Given the description of an element on the screen output the (x, y) to click on. 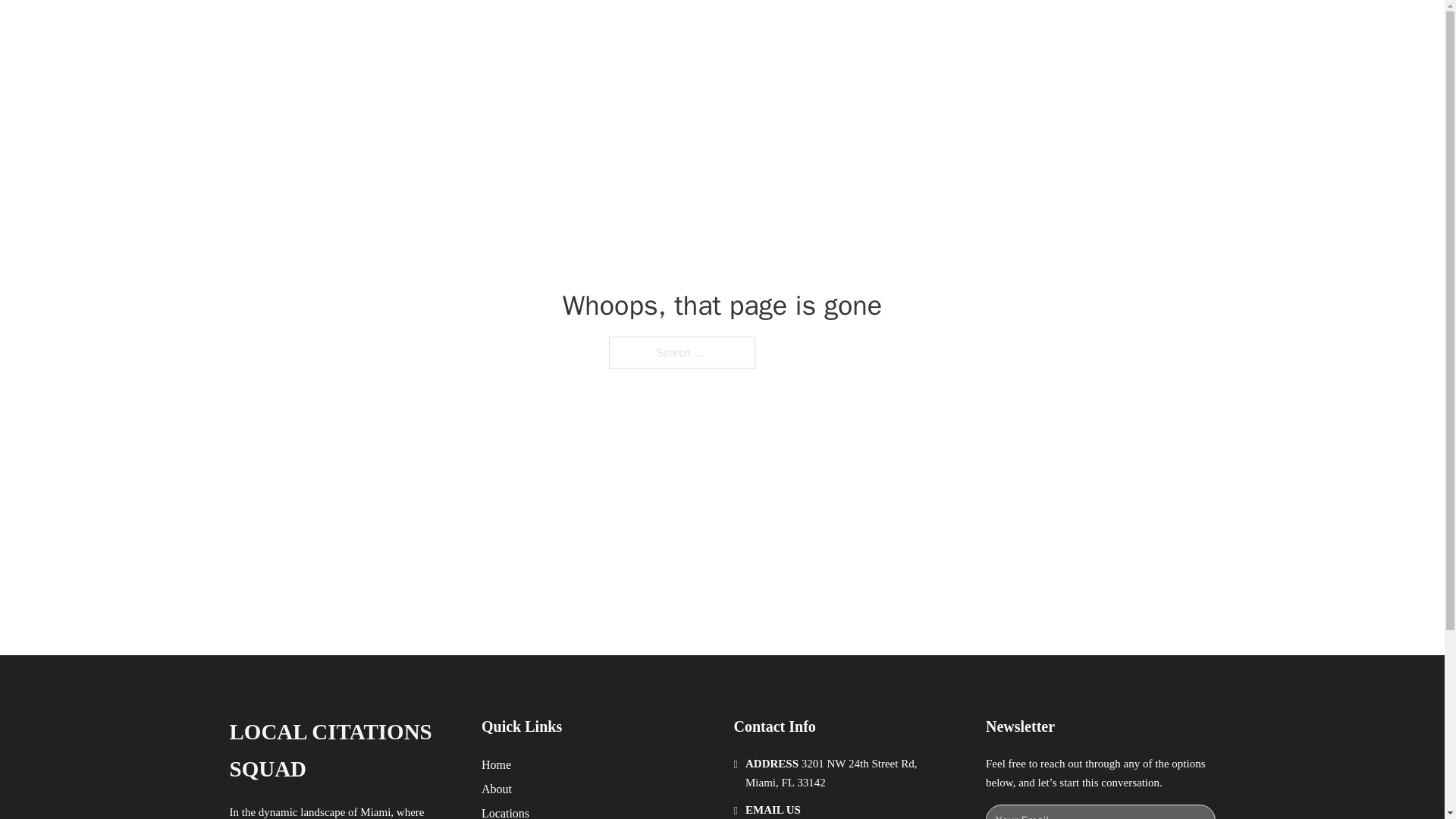
LOCAL CITATION SQUAD (428, 28)
Locations (505, 811)
HOME (919, 29)
About (496, 788)
LOCAL CITATIONS SQUAD (343, 750)
Home (496, 764)
LOCATIONS (990, 29)
